Given the description of an element on the screen output the (x, y) to click on. 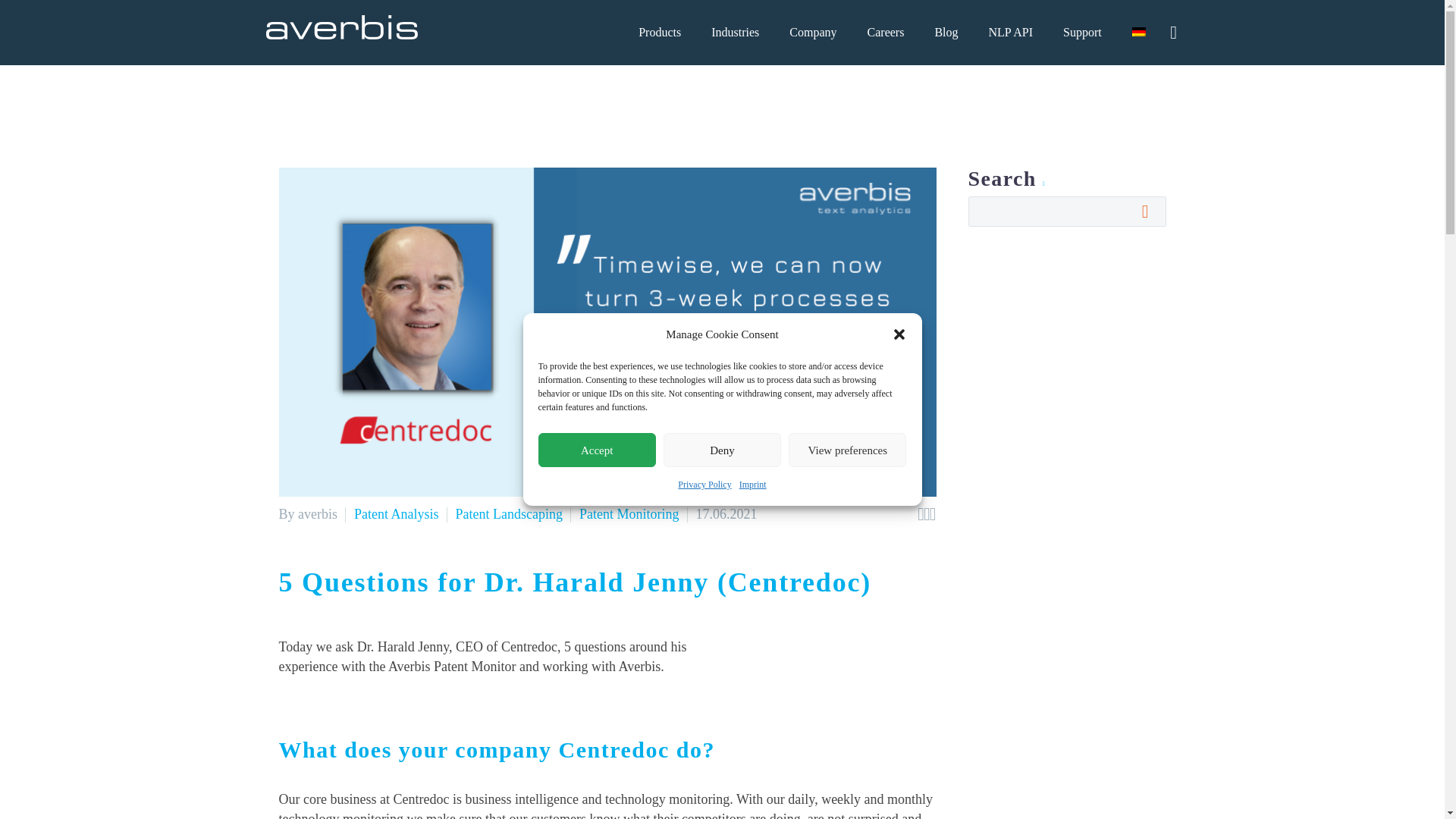
Imprint (753, 484)
View all posts in Patent Analysis (396, 513)
Industries (734, 32)
Products (659, 32)
Privacy Policy (704, 484)
View preferences (847, 449)
Deny (721, 449)
Accept (597, 449)
View all posts in Patent Landscaping (508, 513)
Company (812, 32)
